Given the description of an element on the screen output the (x, y) to click on. 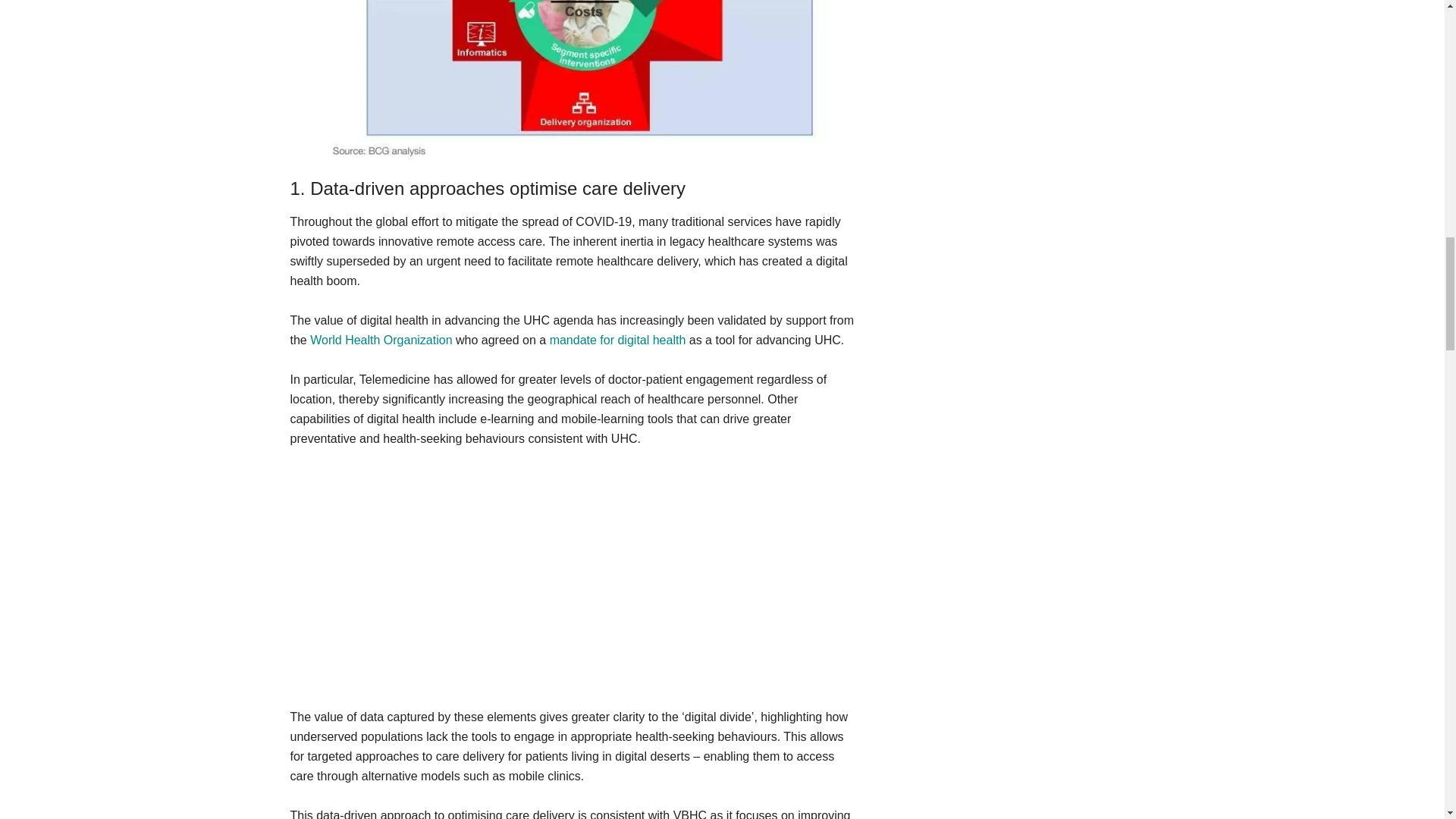
World Health Organization (380, 339)
mandate for digital health (617, 339)
